Given the description of an element on the screen output the (x, y) to click on. 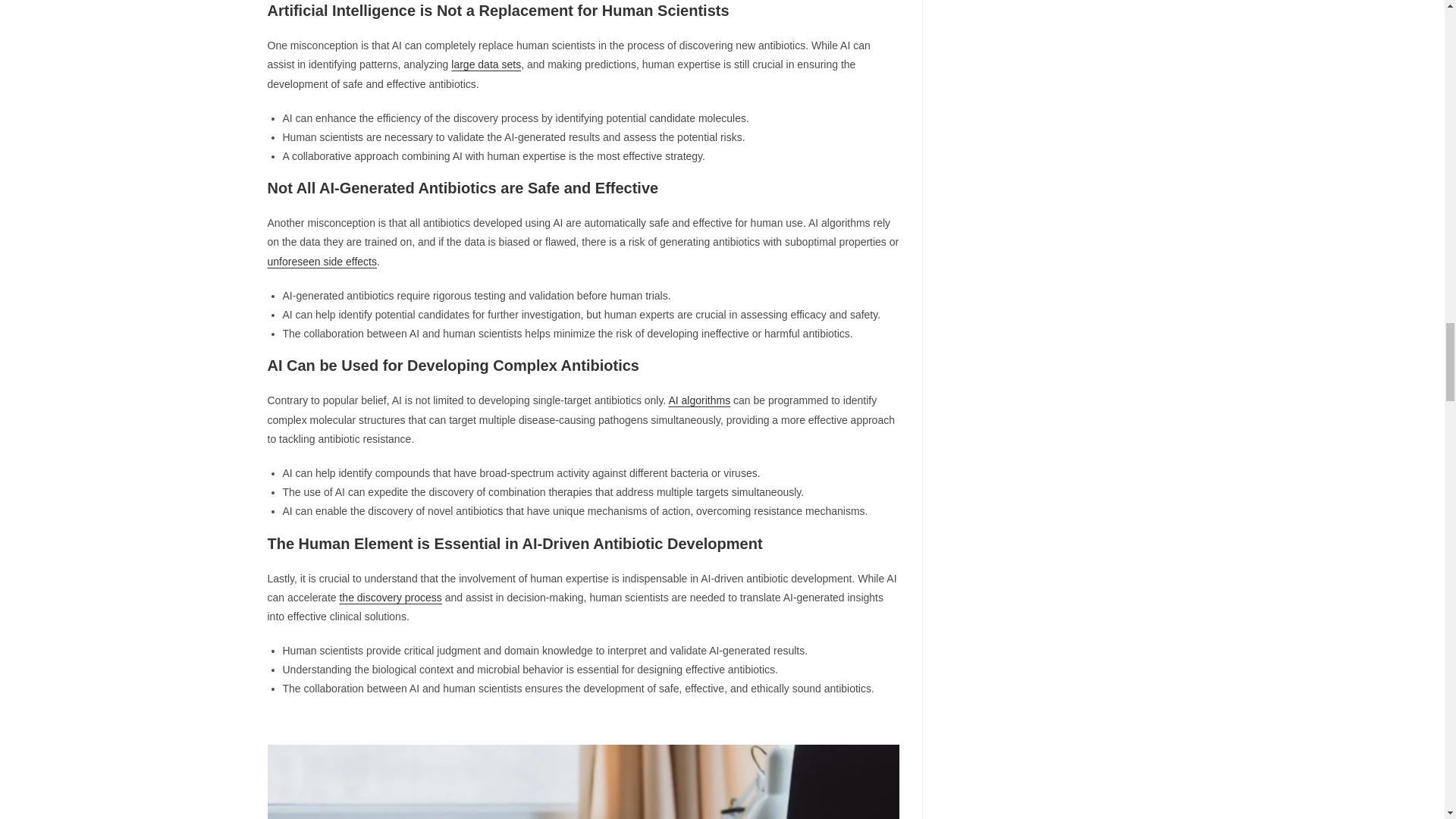
large data sets (486, 64)
Artificial Intelligence Yields New Antibiotic. (582, 781)
the discovery process (390, 597)
unforeseen side effects (321, 261)
AI algorithms (699, 399)
